Given the description of an element on the screen output the (x, y) to click on. 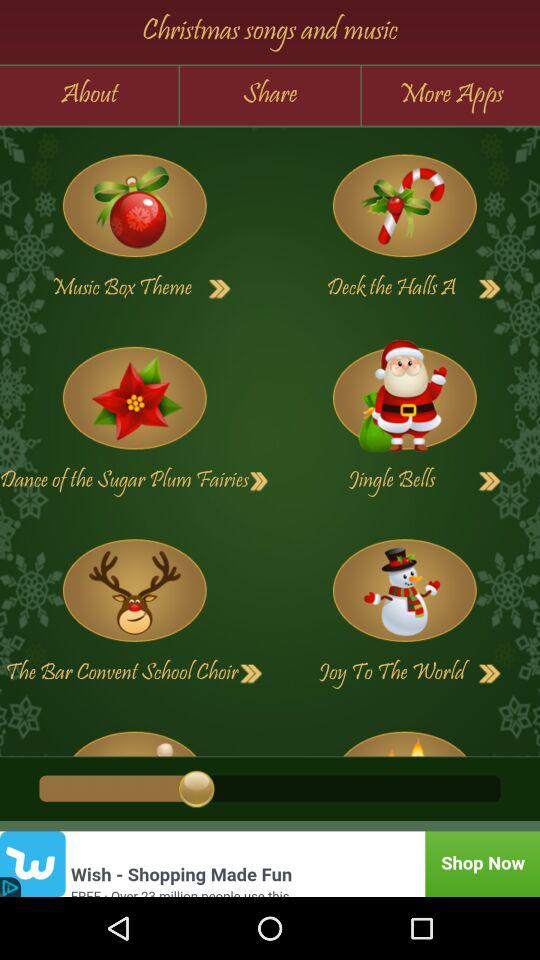
open playlist (134, 205)
